Given the description of an element on the screen output the (x, y) to click on. 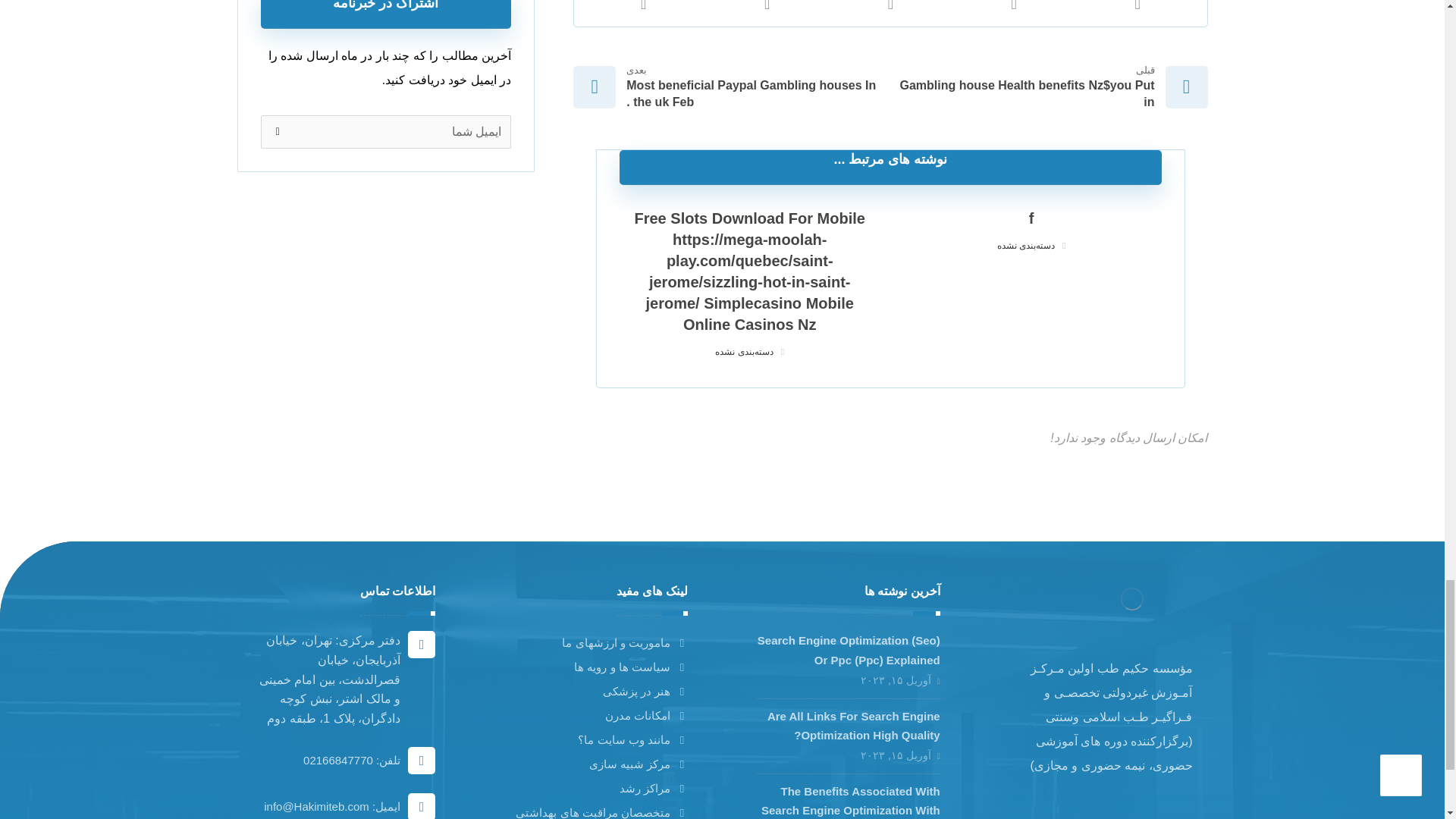
Are All Links For Search Engine Optimization High Quality? (853, 726)
